Given the description of an element on the screen output the (x, y) to click on. 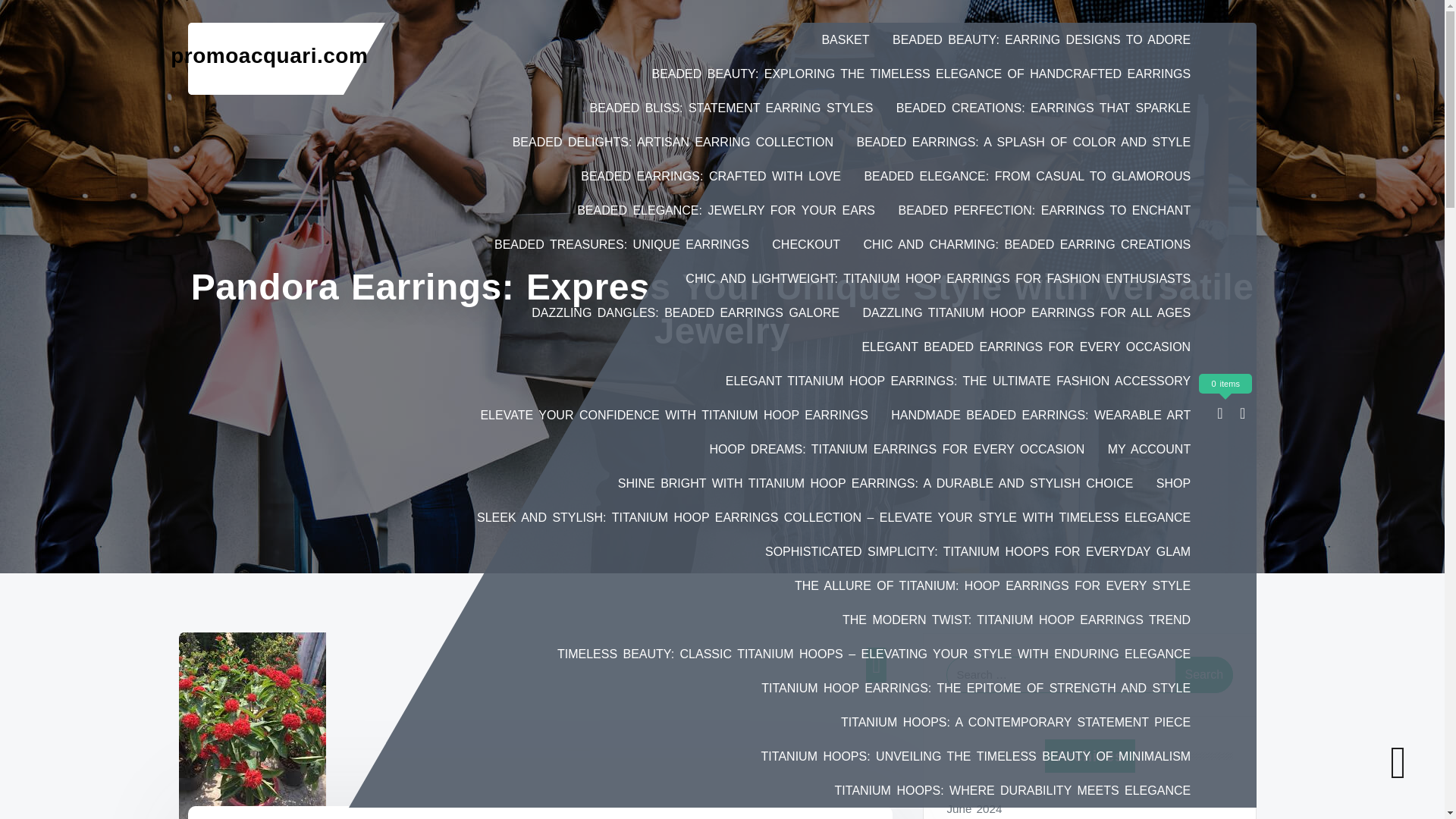
BEADED ELEGANCE: FROM CASUAL TO GLAMOROUS (1026, 175)
DAZZLING TITANIUM HOOP EARRINGS FOR ALL AGES (1026, 312)
Search (1203, 674)
promoacquari.com (269, 55)
TITANIUM HOOPS: WHERE DURABILITY MEETS ELEGANCE (1012, 790)
BEADED BLISS: STATEMENT EARRING STYLES (730, 107)
THE MODERN TWIST: TITANIUM HOOP EARRINGS TREND (1015, 619)
BEADED EARRINGS: CRAFTED WITH LOVE (711, 175)
HANDMADE BEADED EARRINGS: WEARABLE ART (1040, 415)
SHOP (1173, 483)
CHECKOUT (805, 244)
BEADED EARRINGS: A SPLASH OF COLOR AND STYLE (1023, 141)
SOPHISTICATED SIMPLICITY: TITANIUM HOOPS FOR EVERYDAY GLAM (977, 551)
